Given the description of an element on the screen output the (x, y) to click on. 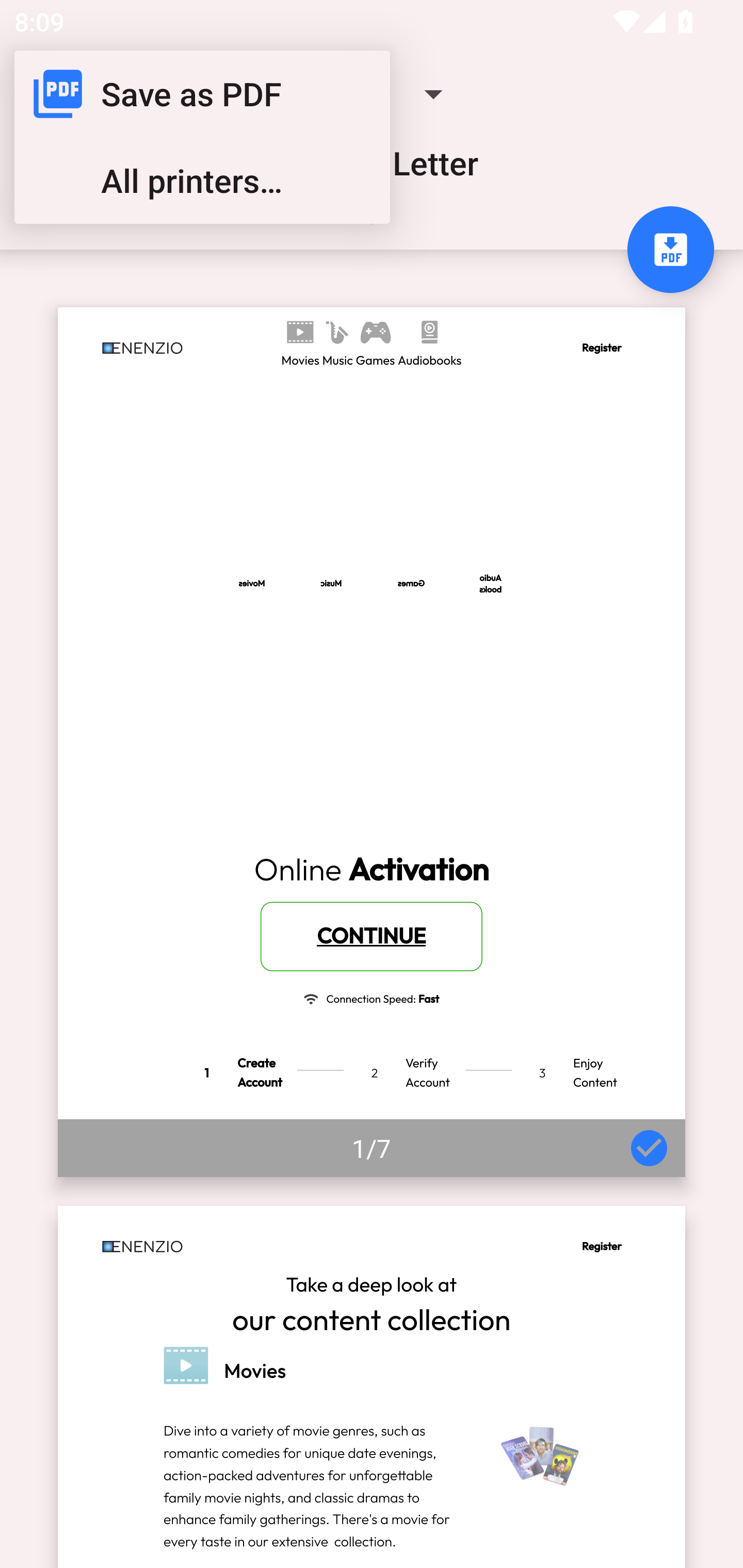
Save as PDF (202, 93)
All printers… (202, 180)
